Given the description of an element on the screen output the (x, y) to click on. 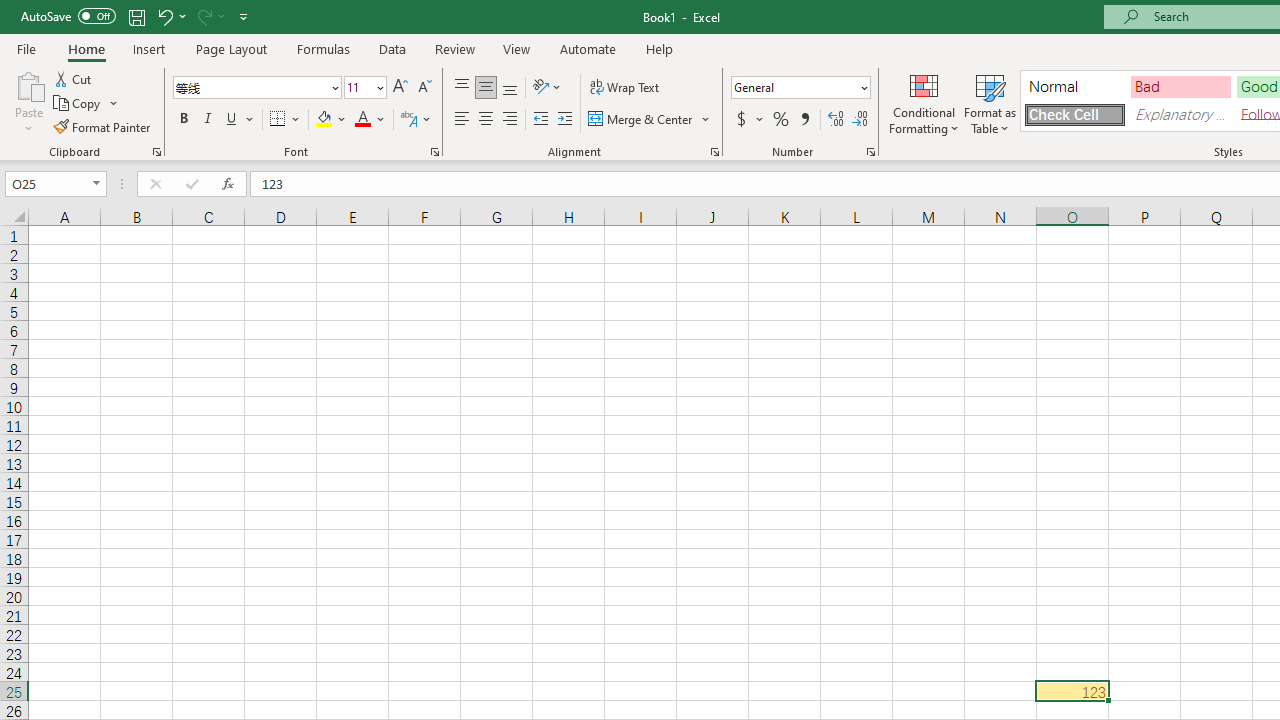
Normal (1074, 86)
Review (454, 48)
Data (392, 48)
Copy (78, 103)
